Given the description of an element on the screen output the (x, y) to click on. 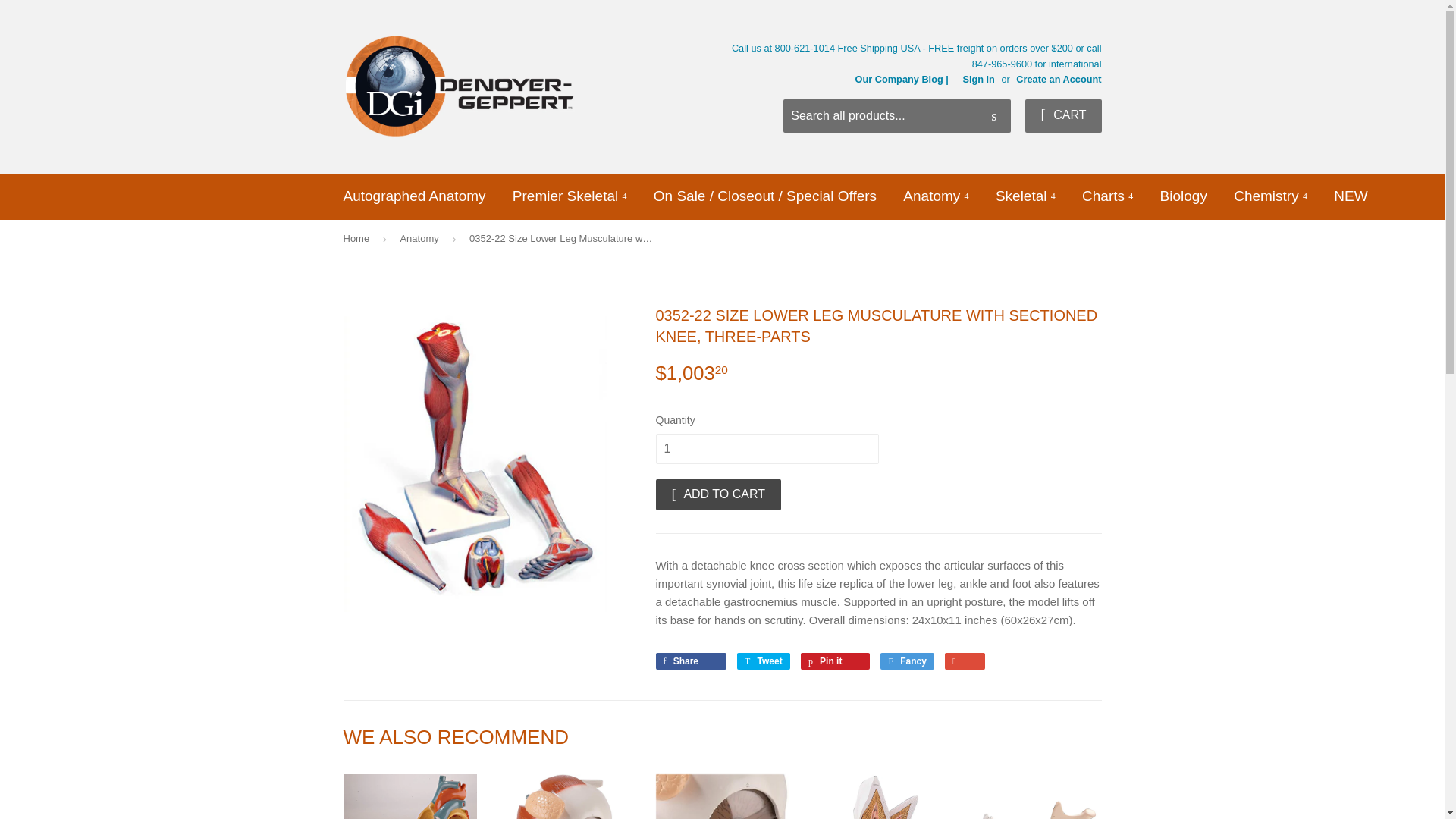
Anatomy (935, 196)
1 (766, 449)
Biology (1183, 196)
CART (1062, 115)
Skeletal (1025, 196)
Sign in (978, 79)
Premier Skeletal (569, 196)
Chemistry (1271, 196)
Autographed Anatomy (414, 196)
Create an Account (1058, 79)
Search (993, 116)
Charts (1107, 196)
